Given the description of an element on the screen output the (x, y) to click on. 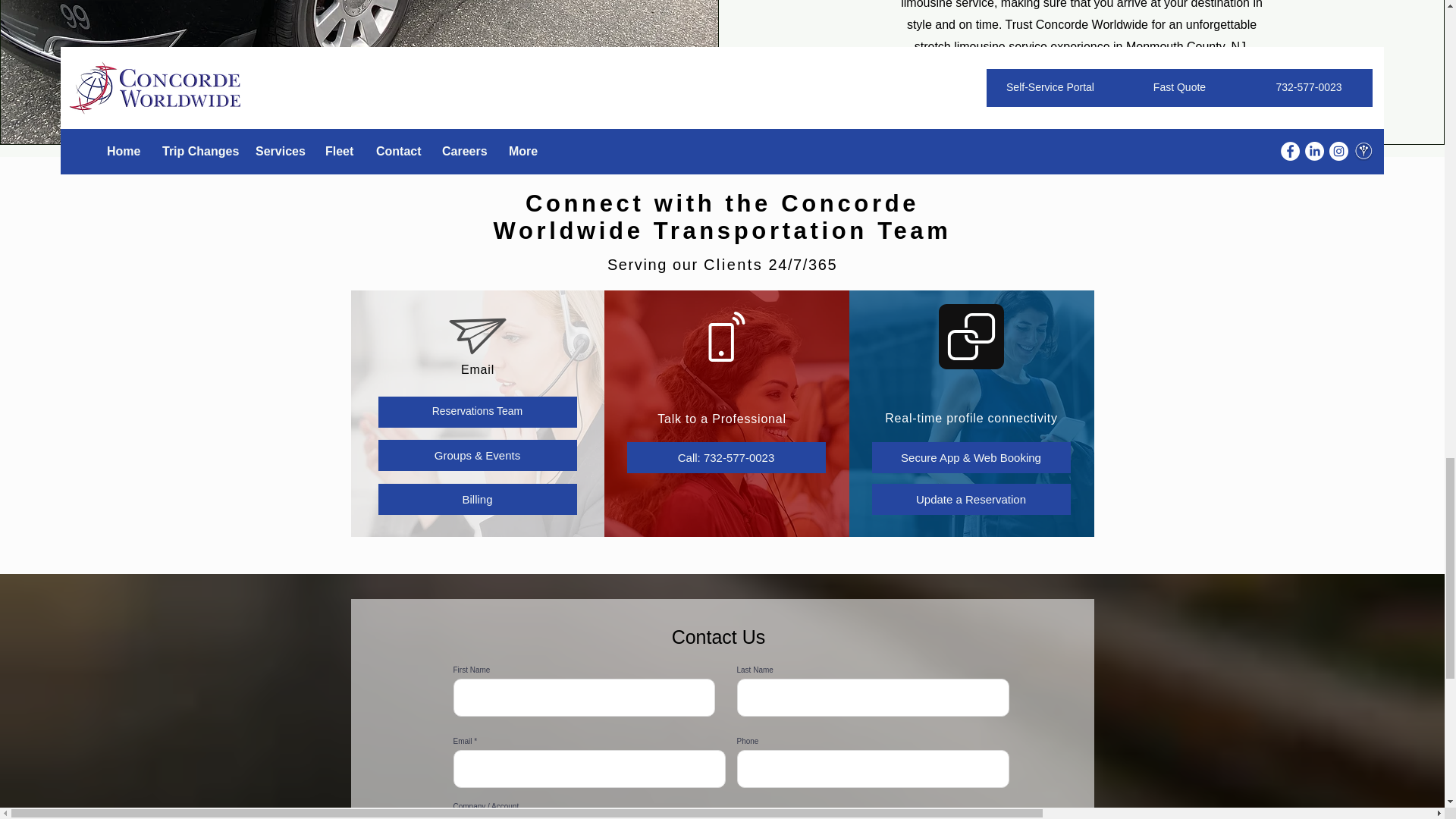
Update a Reservation (971, 499)
Billing (476, 499)
Reservations Team (476, 411)
Call: 732-577-0023 (725, 457)
